Given the description of an element on the screen output the (x, y) to click on. 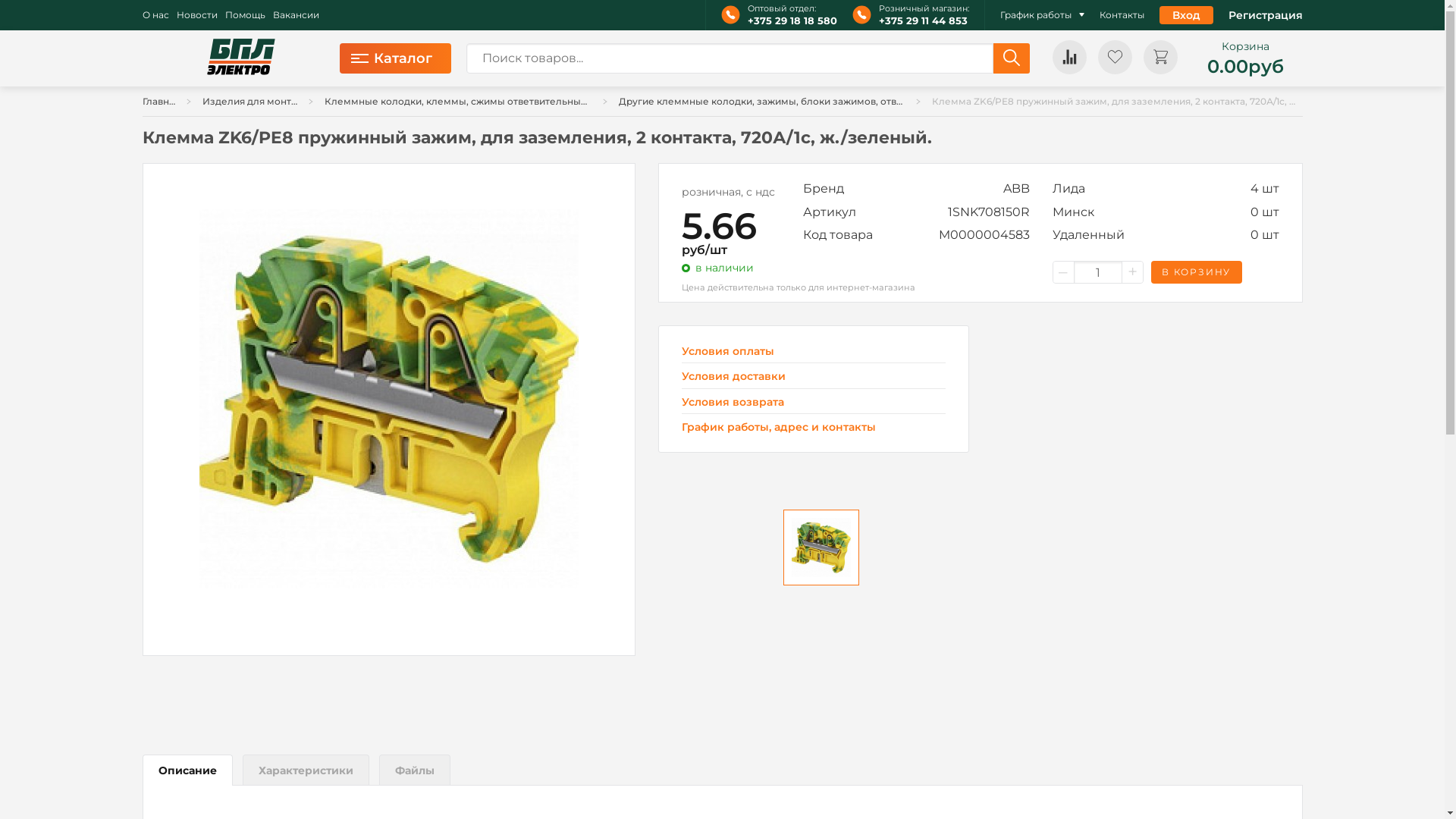
+375 29 11 44 853 Element type: text (923, 20)
+375 29 18 18 580 Element type: text (792, 20)
